Given the description of an element on the screen output the (x, y) to click on. 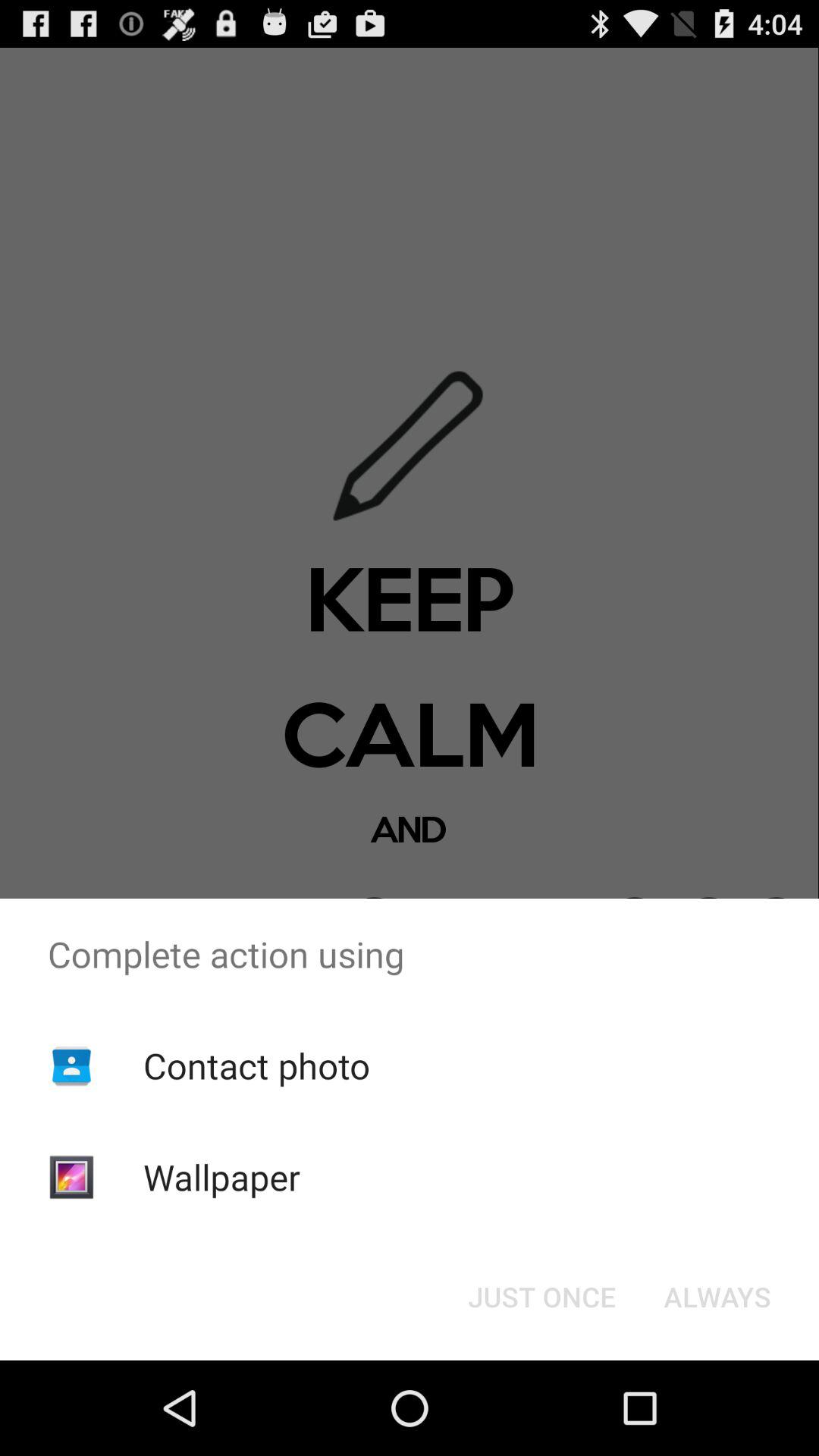
jump until the wallpaper item (221, 1176)
